Given the description of an element on the screen output the (x, y) to click on. 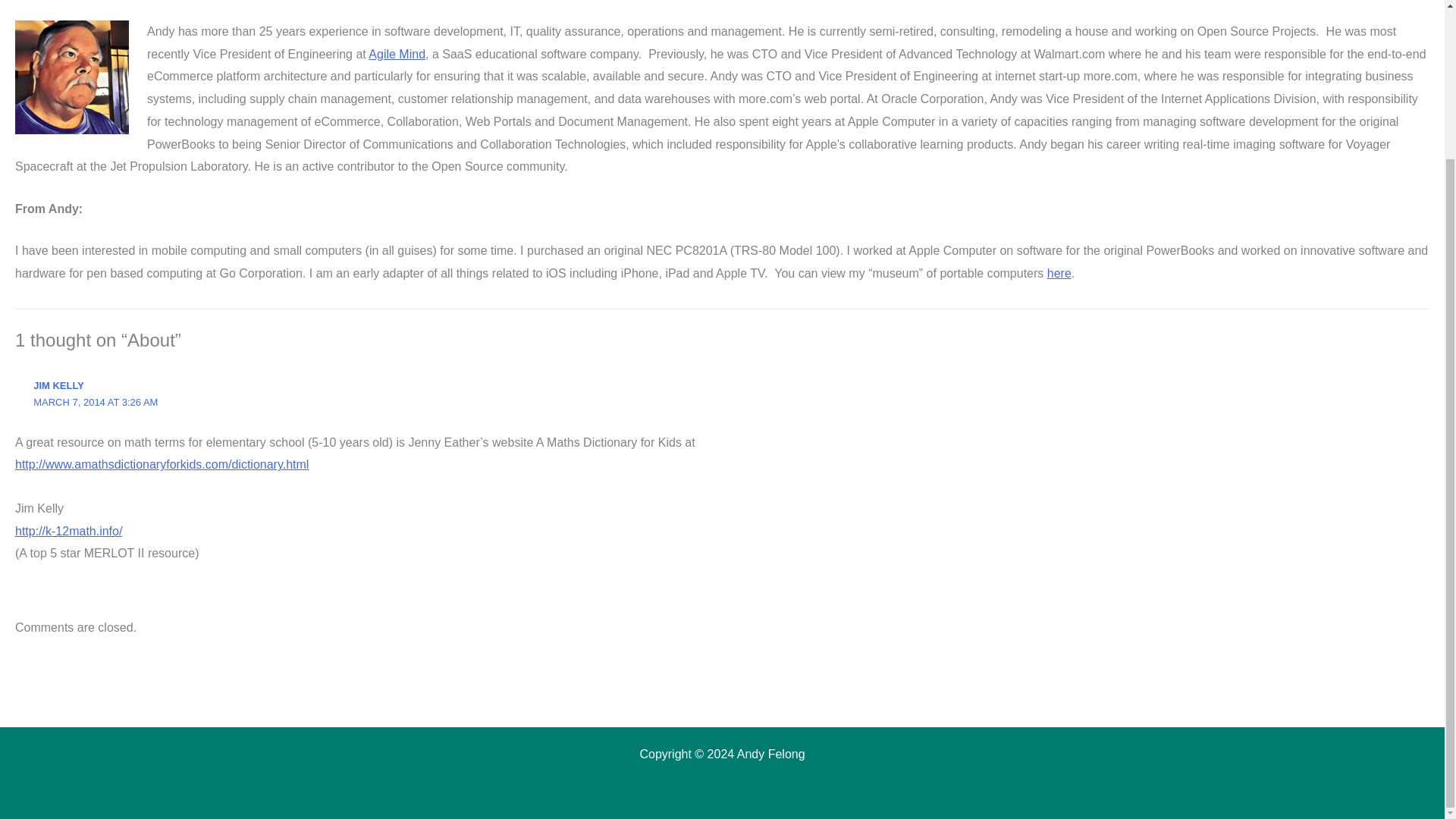
JIM KELLY (58, 385)
Andy's Wearable Computing Museum (1058, 273)
MARCH 7, 2014 AT 3:26 AM (95, 401)
Agile Mind (396, 53)
here (1058, 273)
